Given the description of an element on the screen output the (x, y) to click on. 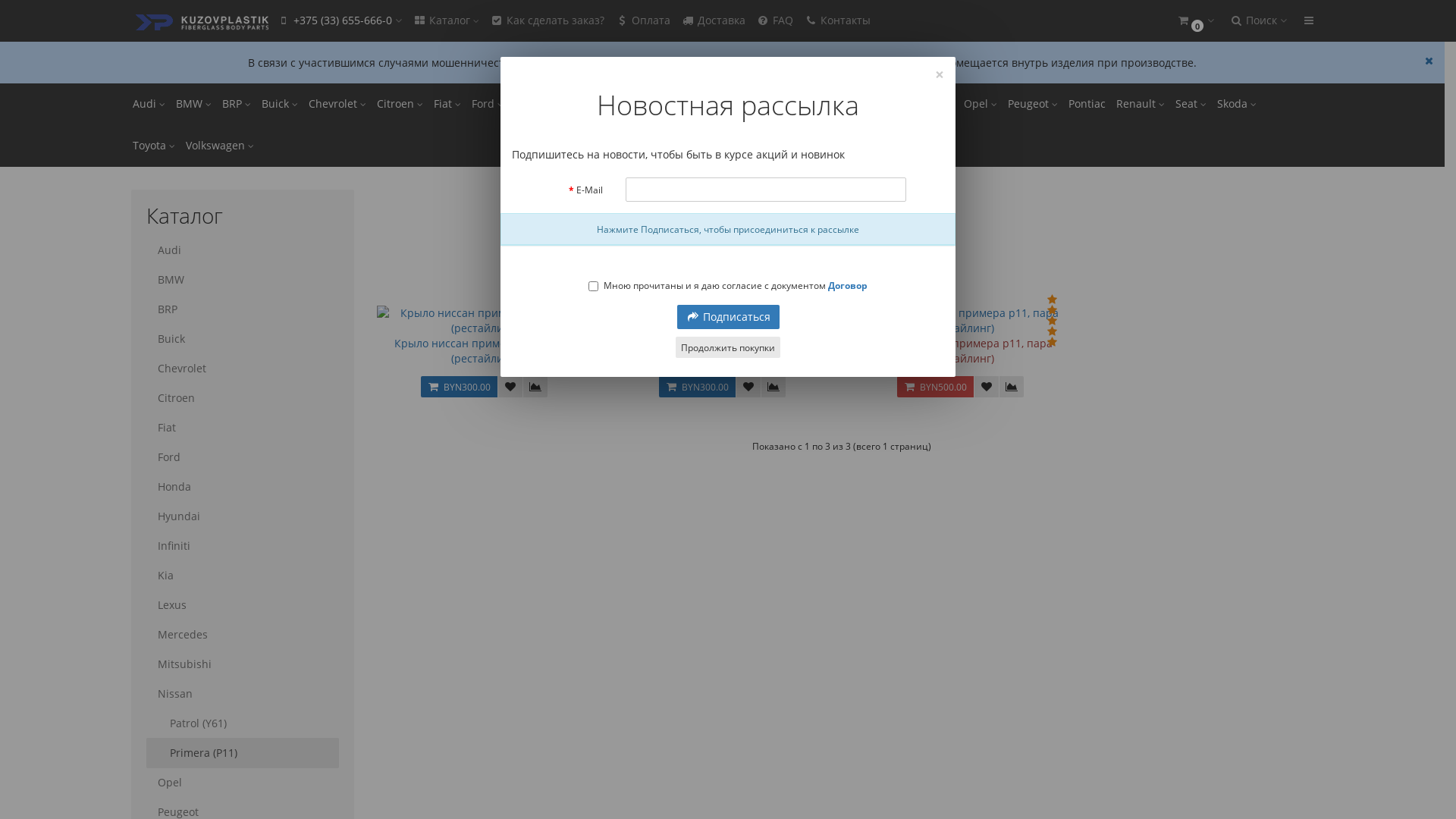
Mitsubishi Element type: text (866, 104)
Skoda Element type: text (1236, 104)
Opel Element type: text (241, 782)
Buick Element type: text (241, 338)
BYN300.00 Element type: text (458, 386)
    Primera (P11) Element type: text (241, 752)
Audi Element type: text (148, 104)
+375 (33) 655-666-0 Element type: text (339, 20)
Lexus Element type: text (735, 104)
Chevrolet Element type: text (241, 368)
Nissan Element type: text (815, 186)
Volkswagen Element type: text (219, 145)
BRP Element type: text (241, 309)
Nissan Element type: text (930, 104)
Infiniti Element type: text (241, 545)
Ford Element type: text (486, 104)
Buick Element type: text (279, 104)
FAQ Element type: text (774, 20)
Kia Element type: text (694, 104)
Infiniti Element type: text (649, 104)
Hyundai Element type: text (592, 104)
BMW Element type: text (241, 279)
Mitsubishi Element type: text (241, 664)
Fiat Element type: text (241, 427)
Pontiac Element type: text (1086, 104)
BMW Element type: text (192, 104)
Renault Element type: text (1139, 104)
Citroen Element type: text (399, 104)
Lexus Element type: text (241, 604)
Opel Element type: text (980, 104)
0 Element type: text (1194, 20)
Seat Element type: text (1190, 104)
BYN300.00 Element type: text (696, 386)
Kia Element type: text (241, 575)
Fiat Element type: text (446, 104)
Hyundai Element type: text (241, 516)
Honda Element type: text (241, 486)
BYN500.00 Element type: text (935, 386)
Mercedes Element type: text (241, 634)
Audi Element type: text (241, 250)
Chevrolet Element type: text (337, 104)
Nissan Element type: text (241, 693)
Mercedes Element type: text (794, 104)
Toyota Element type: text (153, 145)
    Patrol (Y61) Element type: text (241, 723)
Ford Element type: text (241, 457)
Citroen Element type: text (241, 397)
BRP Element type: text (236, 104)
Honda Element type: text (534, 104)
Peugeot Element type: text (1032, 104)
